Given the description of an element on the screen output the (x, y) to click on. 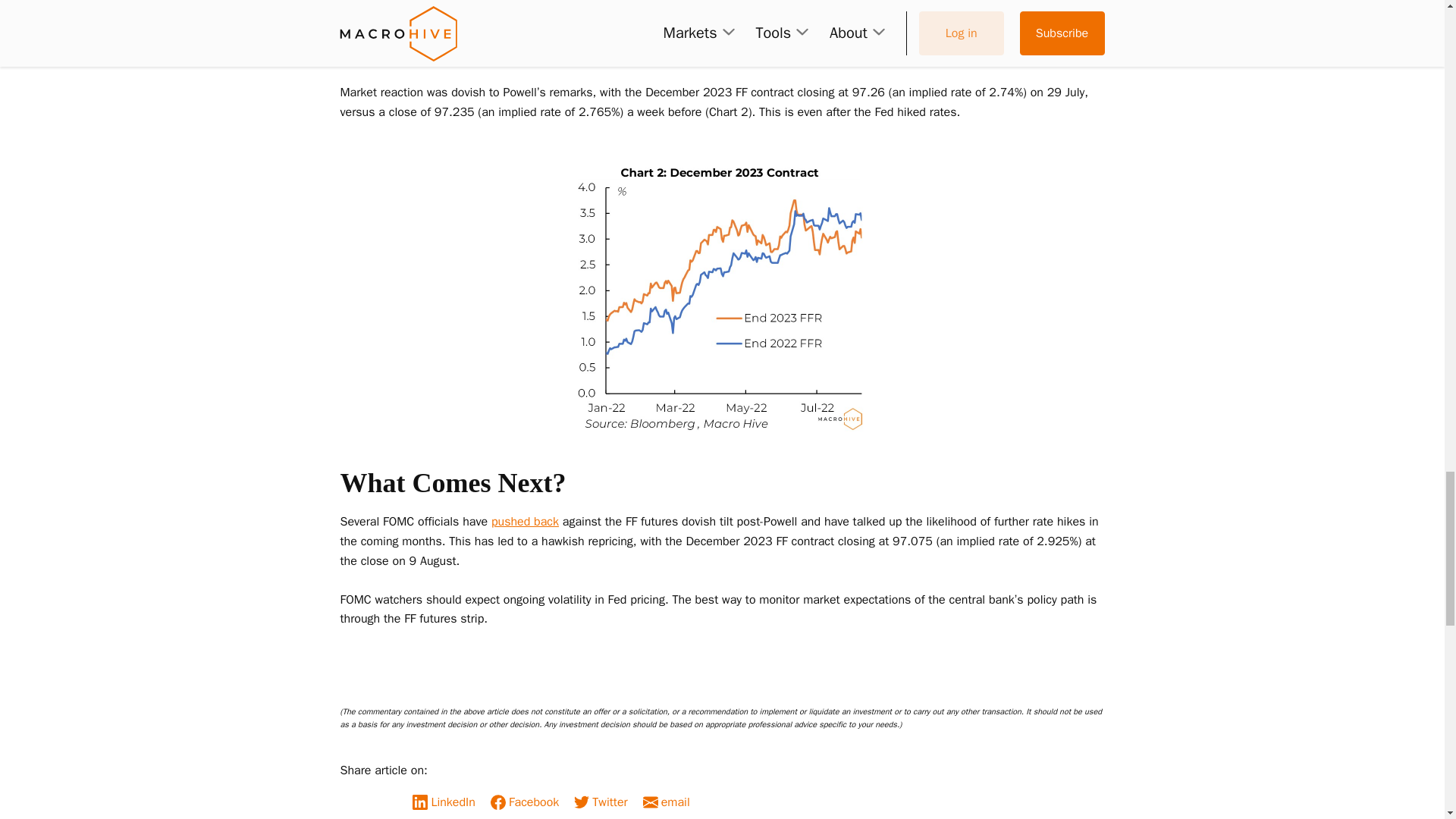
Facebook (528, 803)
assess policy (375, 33)
email (670, 803)
LinkedIn (447, 803)
Twitter (604, 803)
pushed back (525, 521)
